Given the description of an element on the screen output the (x, y) to click on. 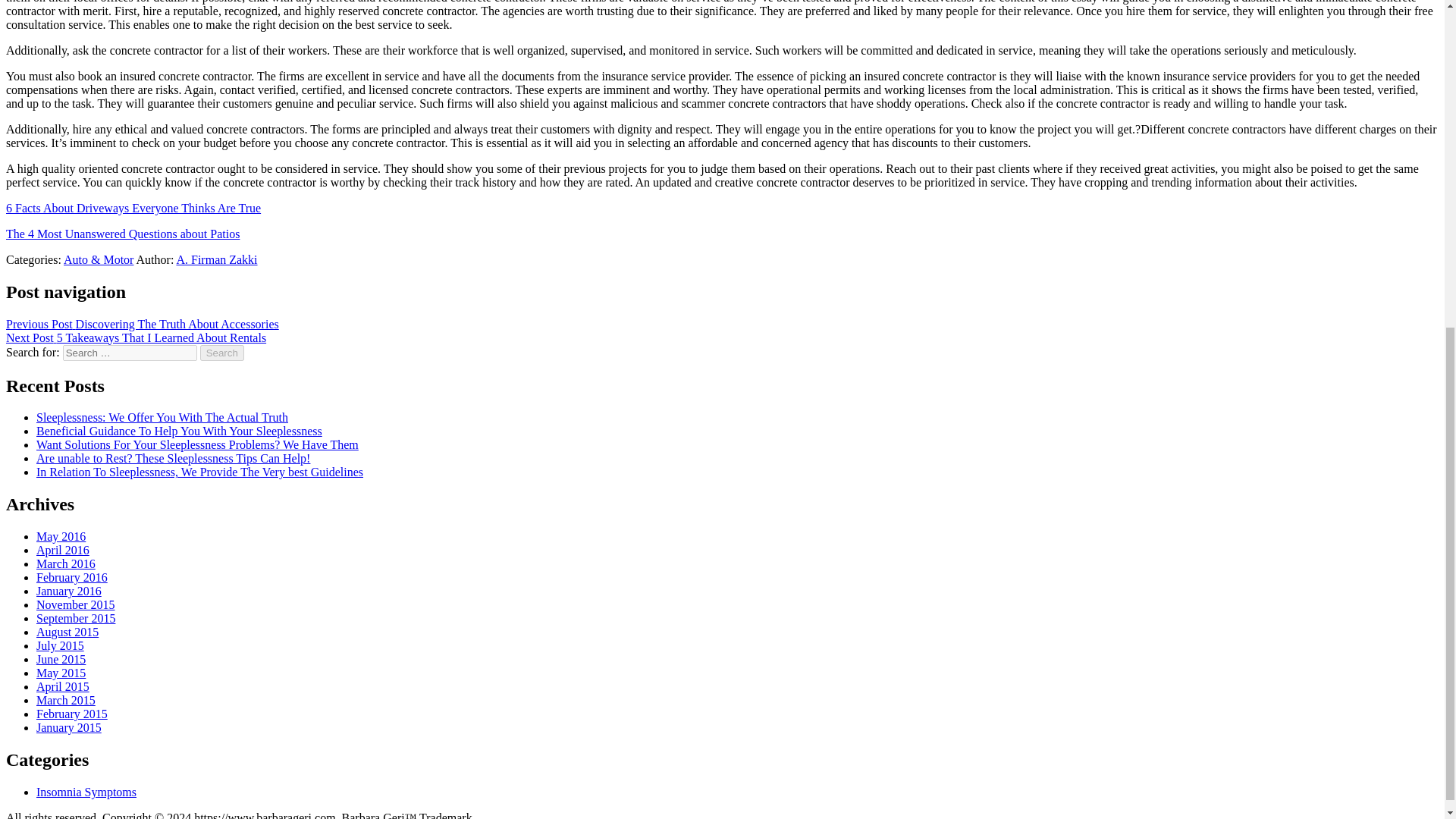
A. Firman Zakki (216, 259)
April 2016 (62, 549)
Insomnia Symptoms (86, 791)
May 2015 (60, 672)
February 2015 (71, 713)
March 2016 (66, 563)
Search (222, 352)
July 2015 (60, 645)
Are unable to Rest? These Sleeplessness Tips Can Help! (173, 458)
